Given the description of an element on the screen output the (x, y) to click on. 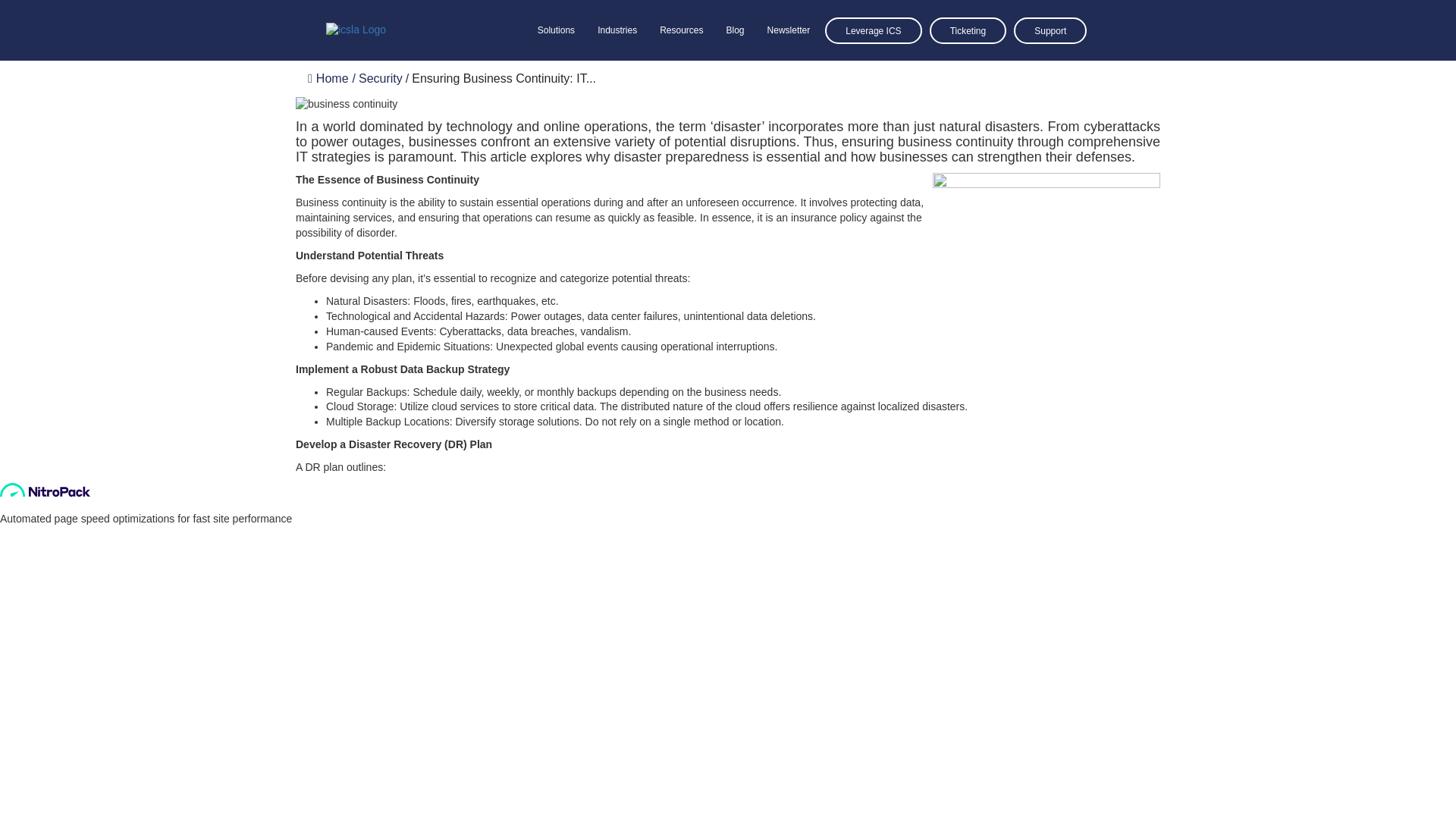
Industries (536, 75)
Solutions (475, 75)
Newsletter (708, 75)
Solutions (555, 30)
Leverage ICS (792, 73)
Blog (655, 75)
Resources (681, 30)
Support (1049, 29)
Leverage ICS (873, 29)
Support (969, 73)
Resources (601, 75)
Ticketing (887, 73)
Home (328, 78)
Category Name (380, 78)
Security (380, 78)
